Given the description of an element on the screen output the (x, y) to click on. 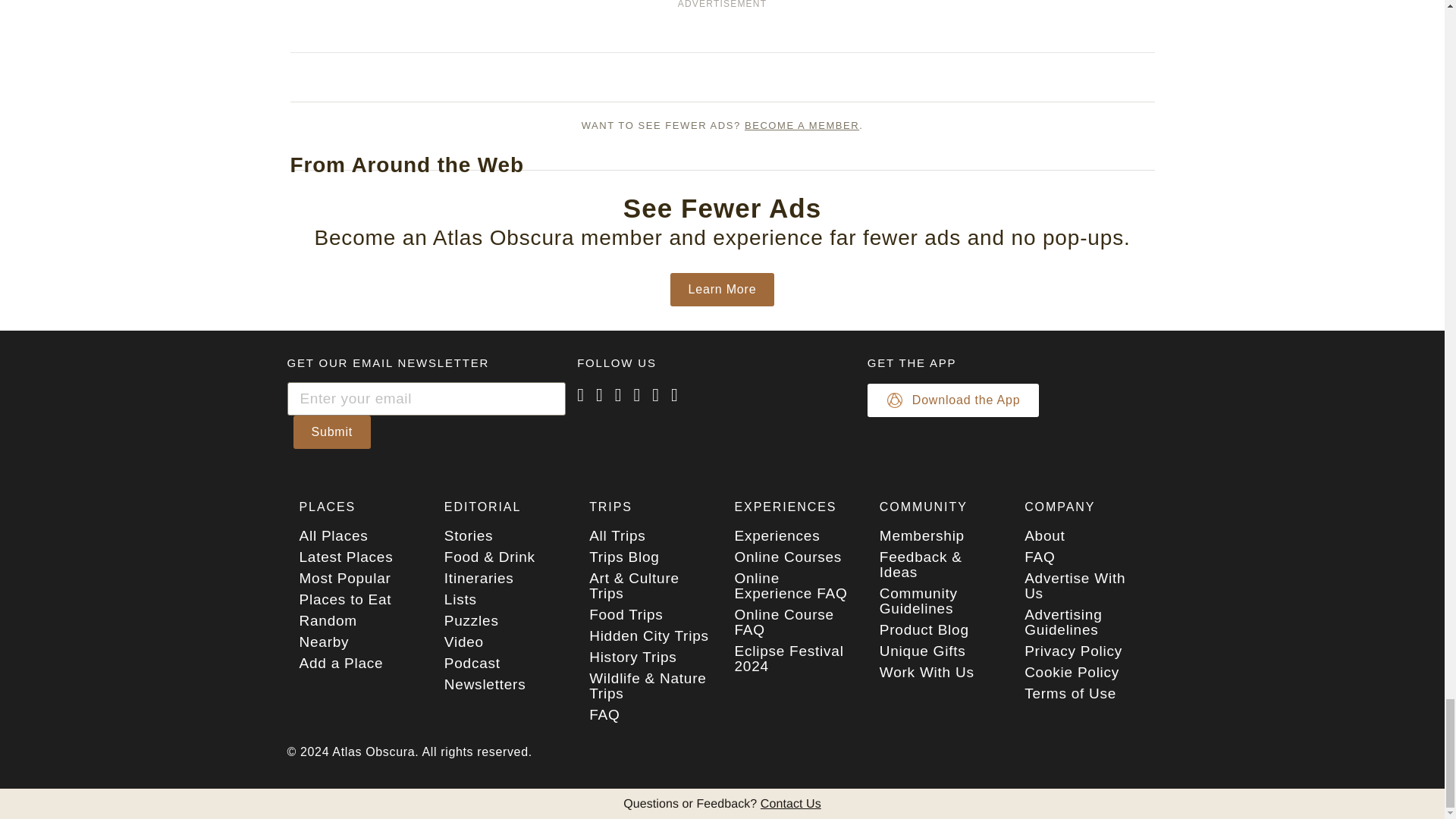
Submit (331, 431)
